Given the description of an element on the screen output the (x, y) to click on. 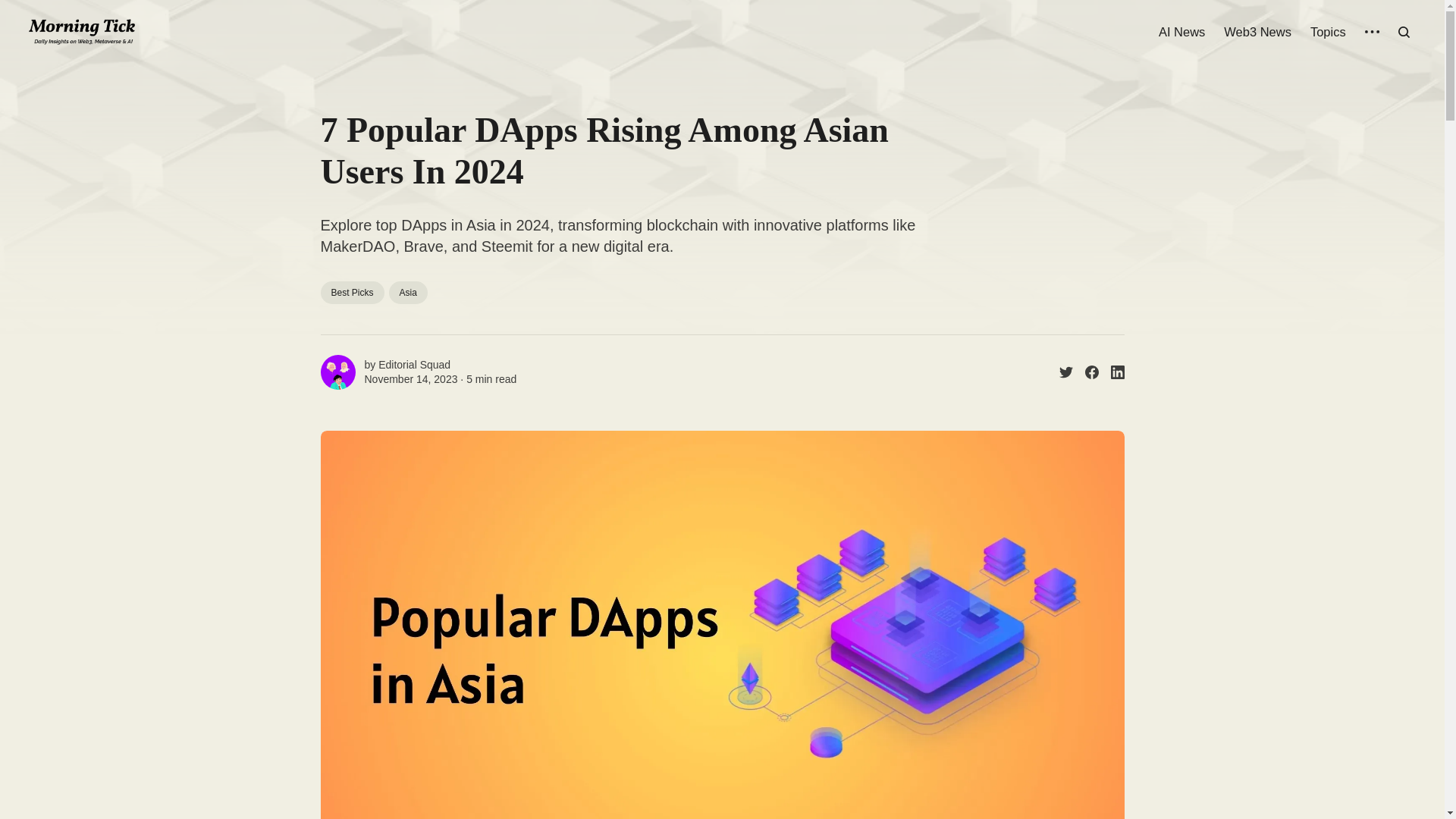
Asia (408, 292)
Best Picks (352, 292)
Topics (1327, 31)
AI News (1181, 31)
Web3 News (1257, 31)
Editorial Squad (413, 364)
